Given the description of an element on the screen output the (x, y) to click on. 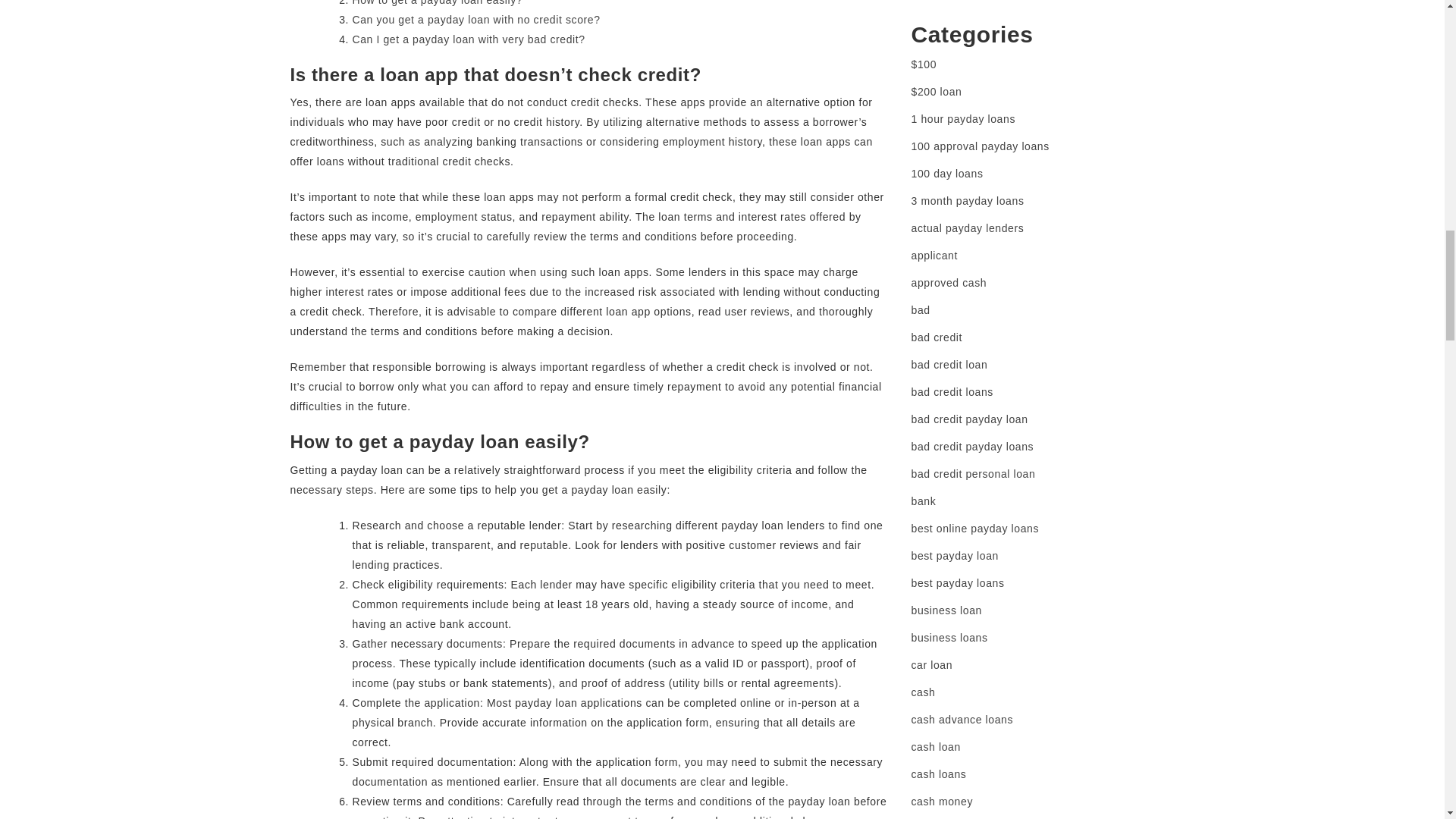
How to get a payday loan easily? (437, 2)
Can you get a payday loan with no credit score? (475, 19)
Can I get a payday loan with very bad credit? (468, 39)
